Given the description of an element on the screen output the (x, y) to click on. 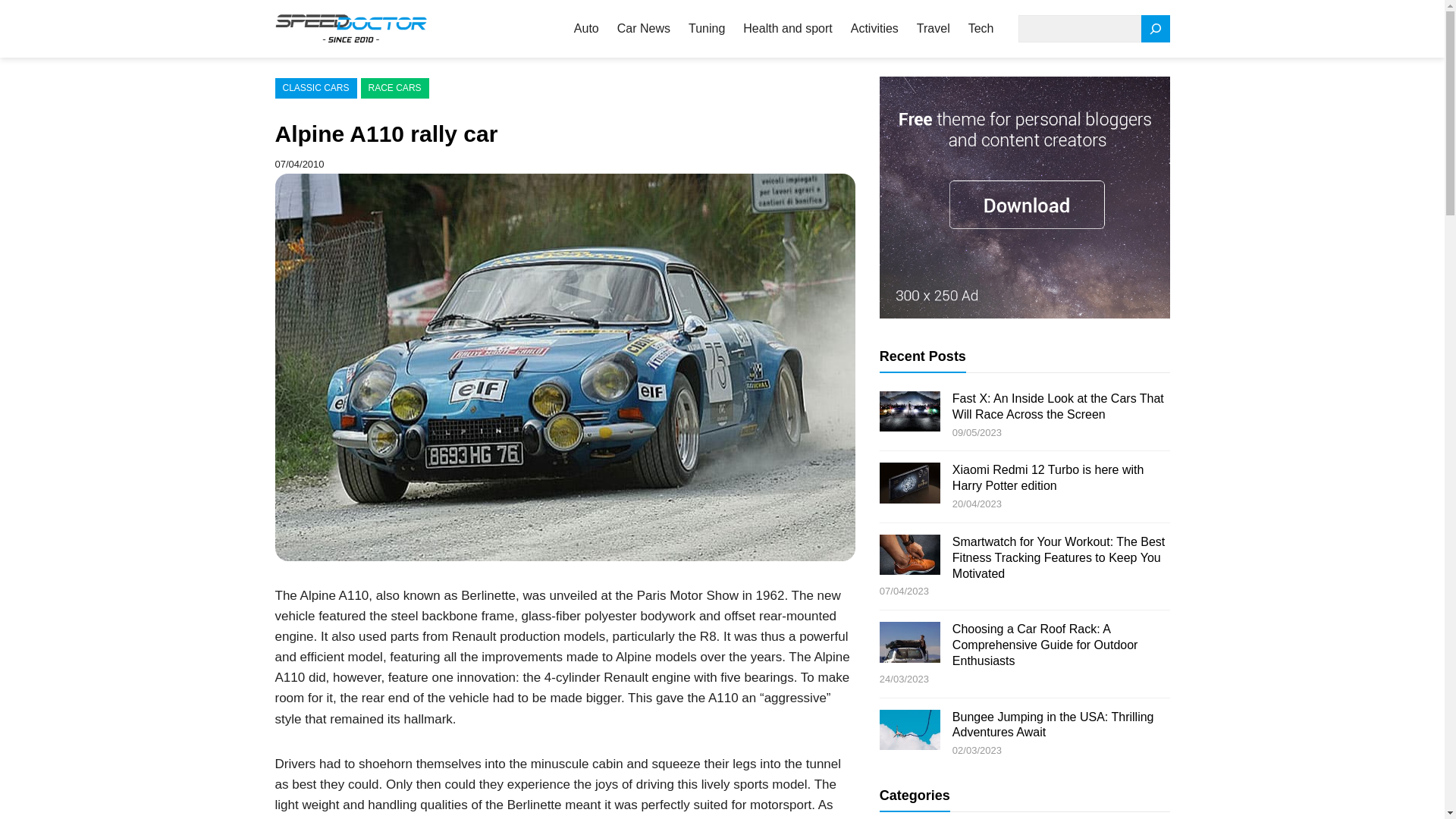
Travel (933, 28)
Bungee Jumping in the USA: Thrilling Adventures Await (1053, 724)
Car News (643, 28)
CLASSIC CARS (315, 87)
Tuning (706, 28)
RACE CARS (395, 87)
Xiaomi Redmi 12 Turbo is here with Harry Potter edition (1048, 477)
Activities (874, 28)
Health and sport (786, 28)
